Given the description of an element on the screen output the (x, y) to click on. 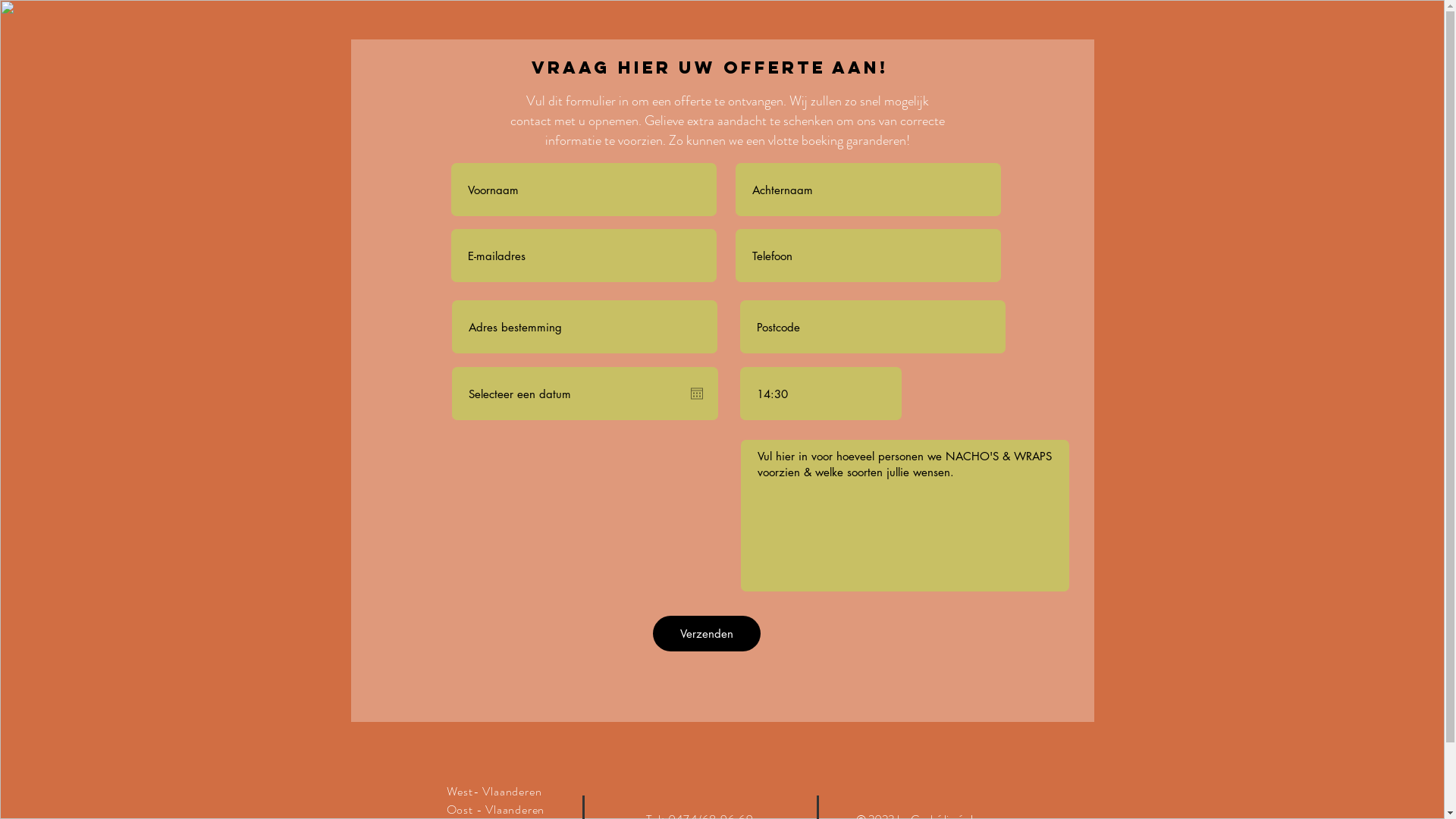
Verzenden Element type: text (705, 633)
